Given the description of an element on the screen output the (x, y) to click on. 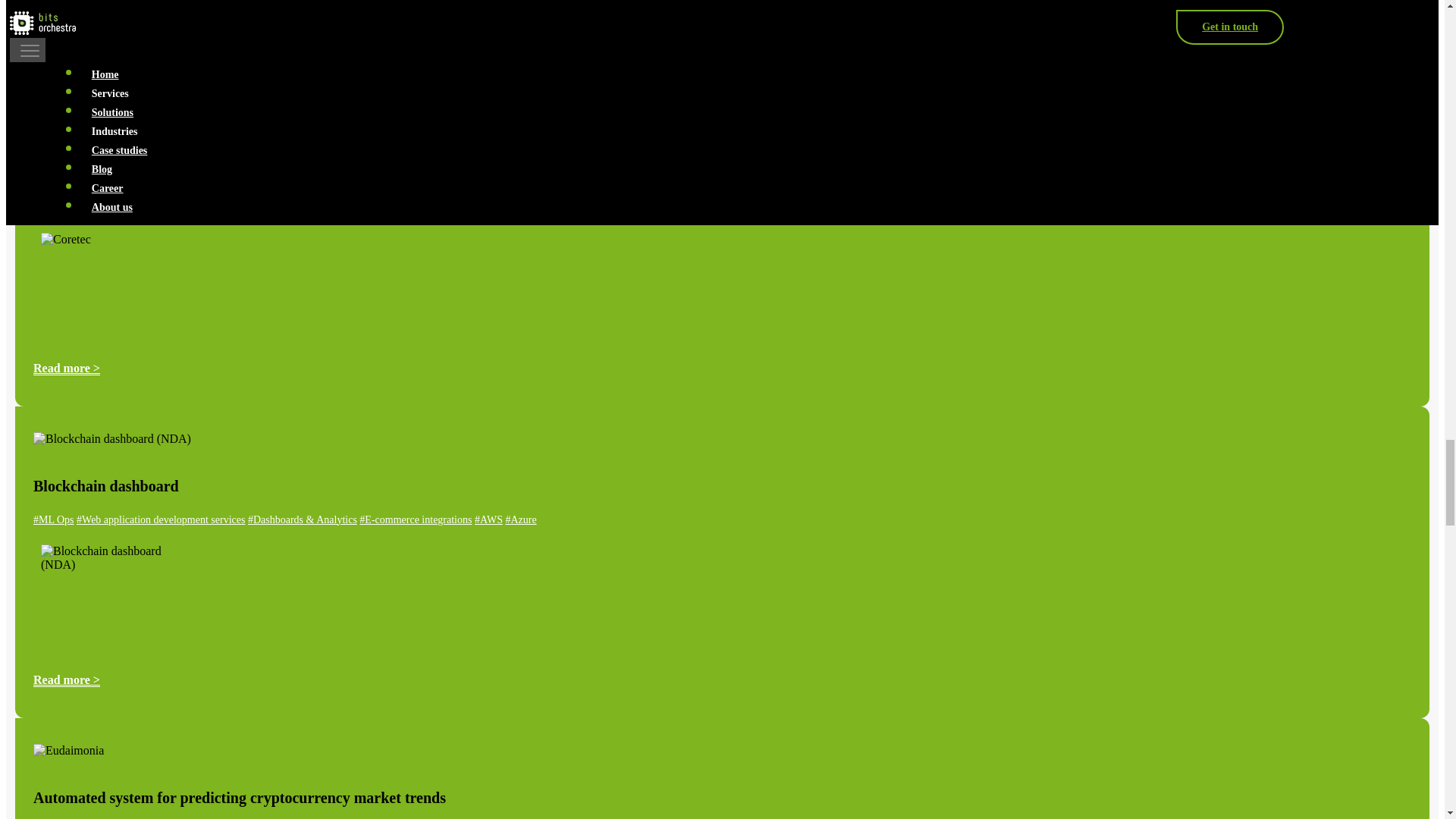
Coretec (57, 127)
Flaga energy management platform (106, 17)
Eudaimonia (68, 750)
Coretec (106, 285)
